Given the description of an element on the screen output the (x, y) to click on. 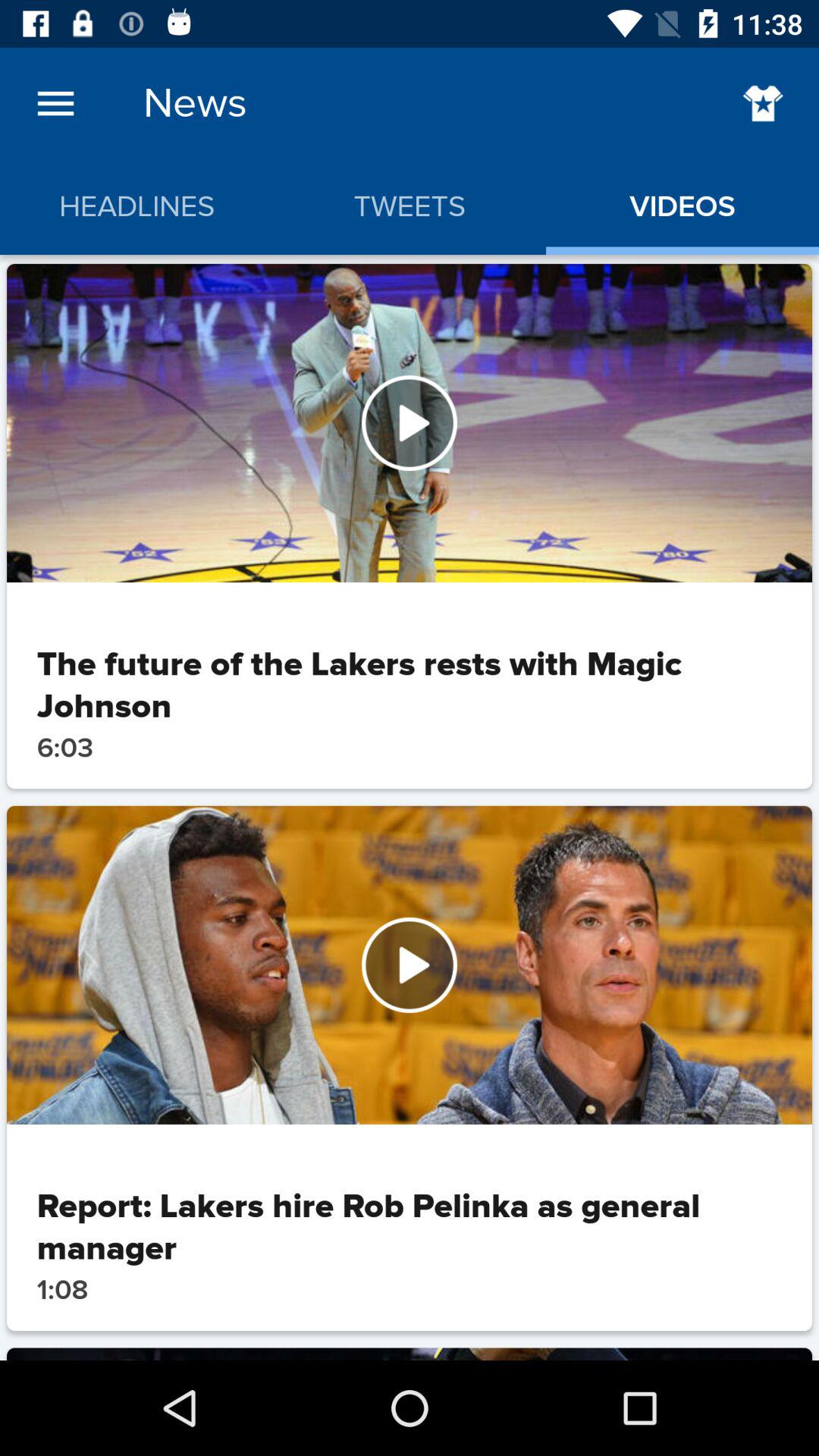
watch the video (409, 964)
